Given the description of an element on the screen output the (x, y) to click on. 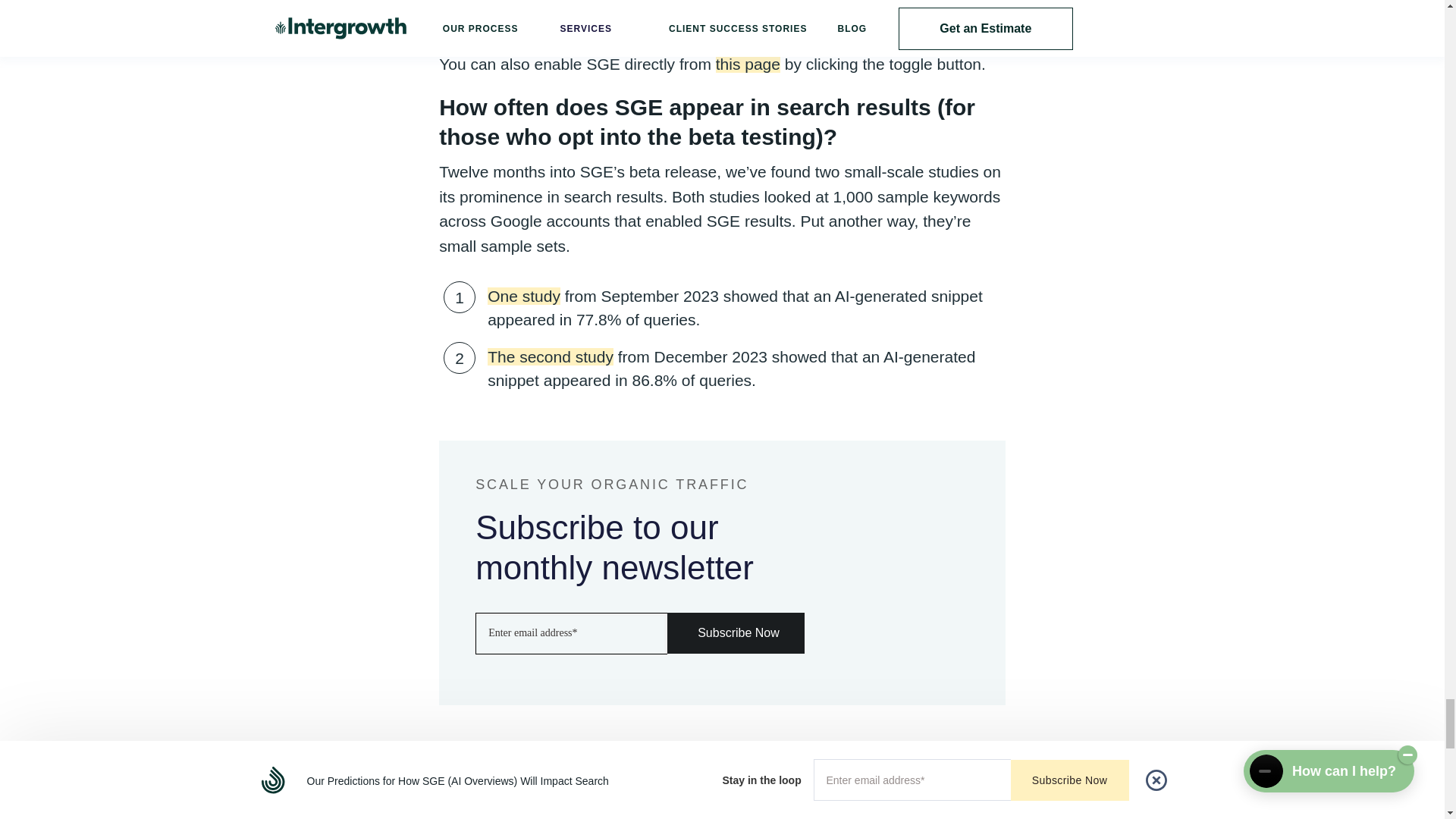
Subscribe Now (735, 632)
this page (748, 63)
One study (523, 295)
Subscribe Now (735, 632)
The second study (549, 356)
